Given the description of an element on the screen output the (x, y) to click on. 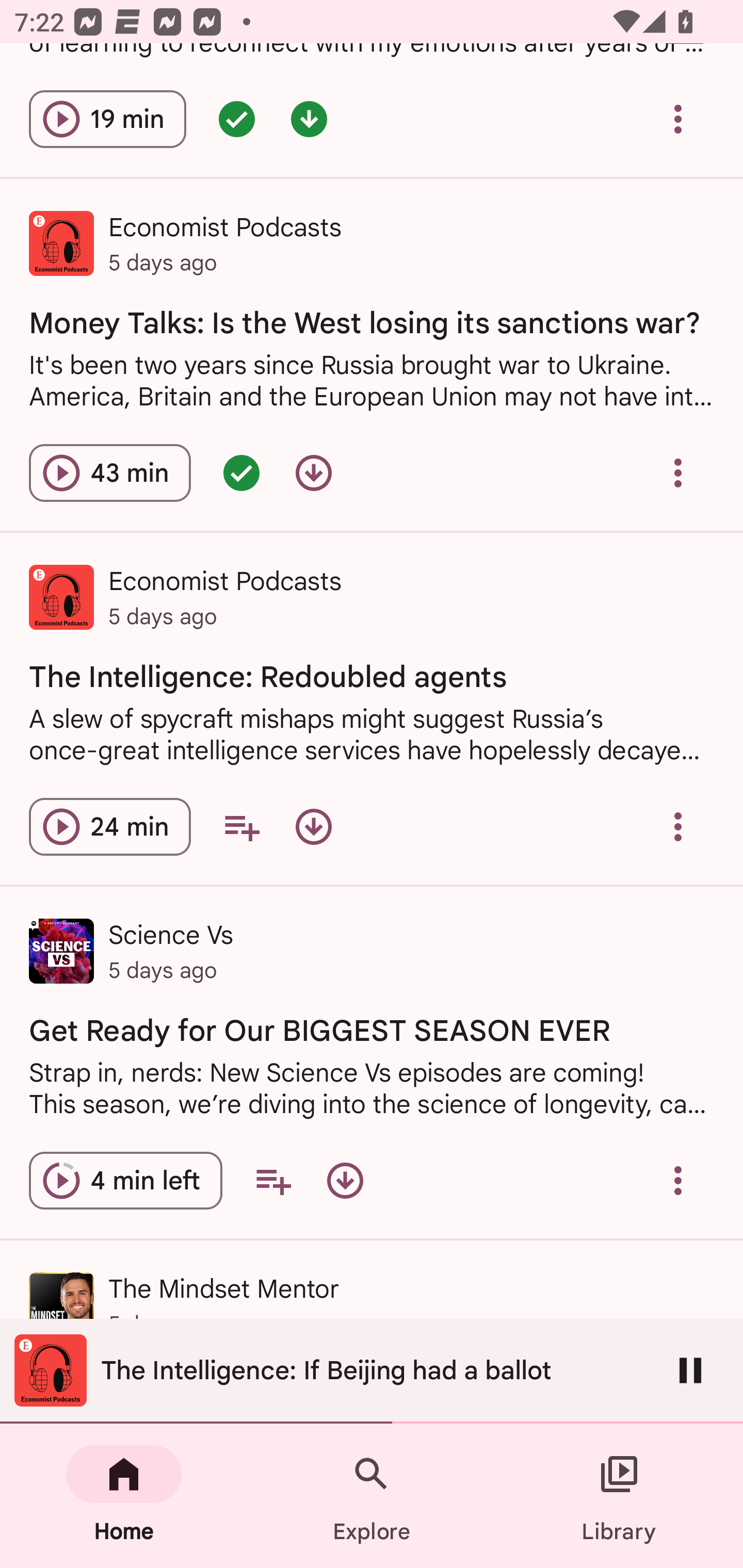
Episode queued - double tap for options (236, 119)
Episode downloaded - double tap for options (308, 119)
Overflow menu (677, 119)
Episode queued - double tap for options (241, 472)
Download episode (313, 472)
Overflow menu (677, 472)
Add to your queue (241, 827)
Download episode (313, 827)
Overflow menu (677, 827)
Add to your queue (273, 1180)
Download episode (345, 1180)
Overflow menu (677, 1180)
Pause (690, 1370)
Explore (371, 1495)
Library (619, 1495)
